Given the description of an element on the screen output the (x, y) to click on. 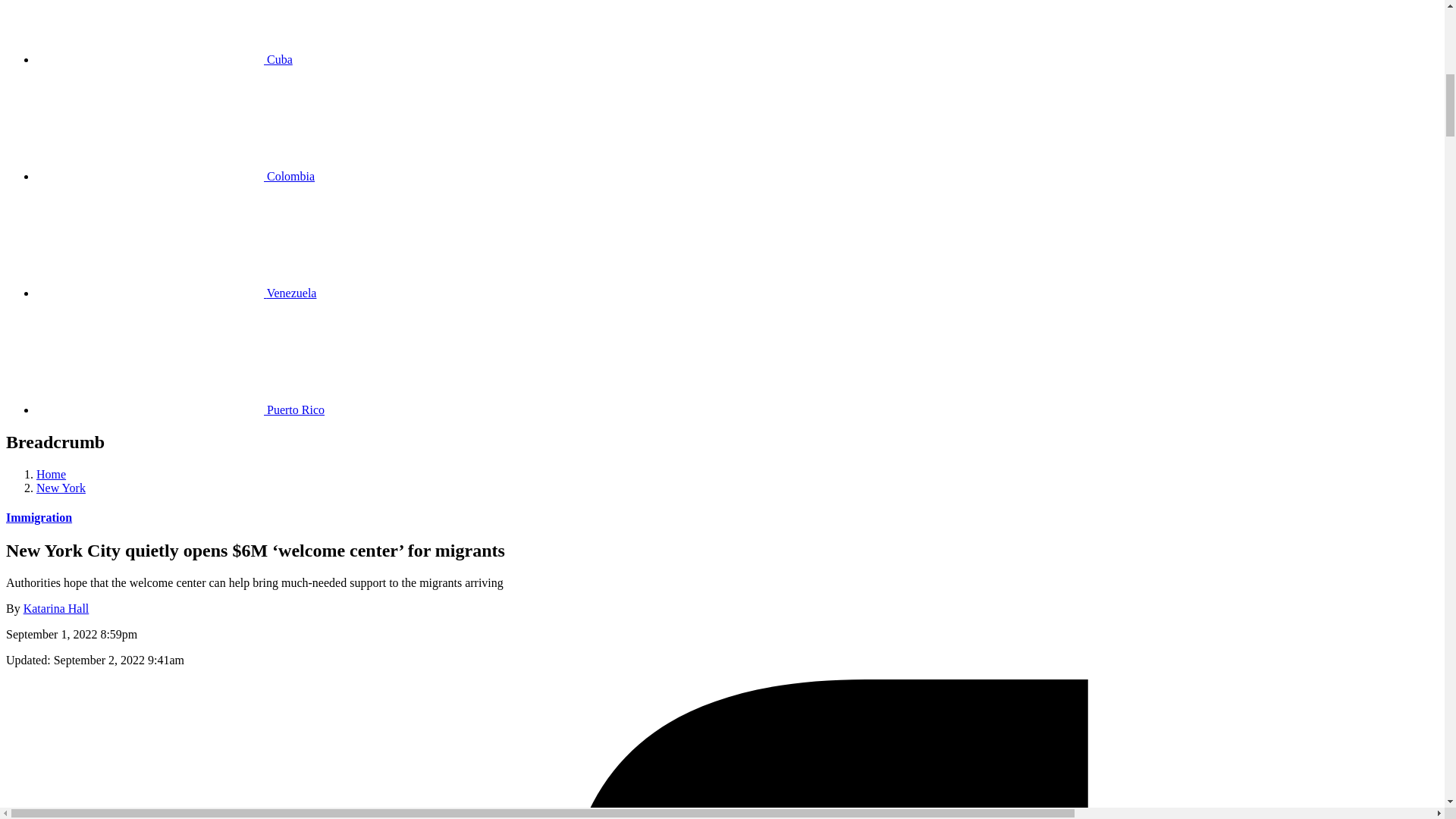
New York (60, 487)
Puerto Rico (180, 409)
Katarina Hall (55, 608)
Colombia (175, 175)
Venezuela (175, 292)
Home (50, 473)
Immigration (38, 517)
Cuba (164, 59)
